Given the description of an element on the screen output the (x, y) to click on. 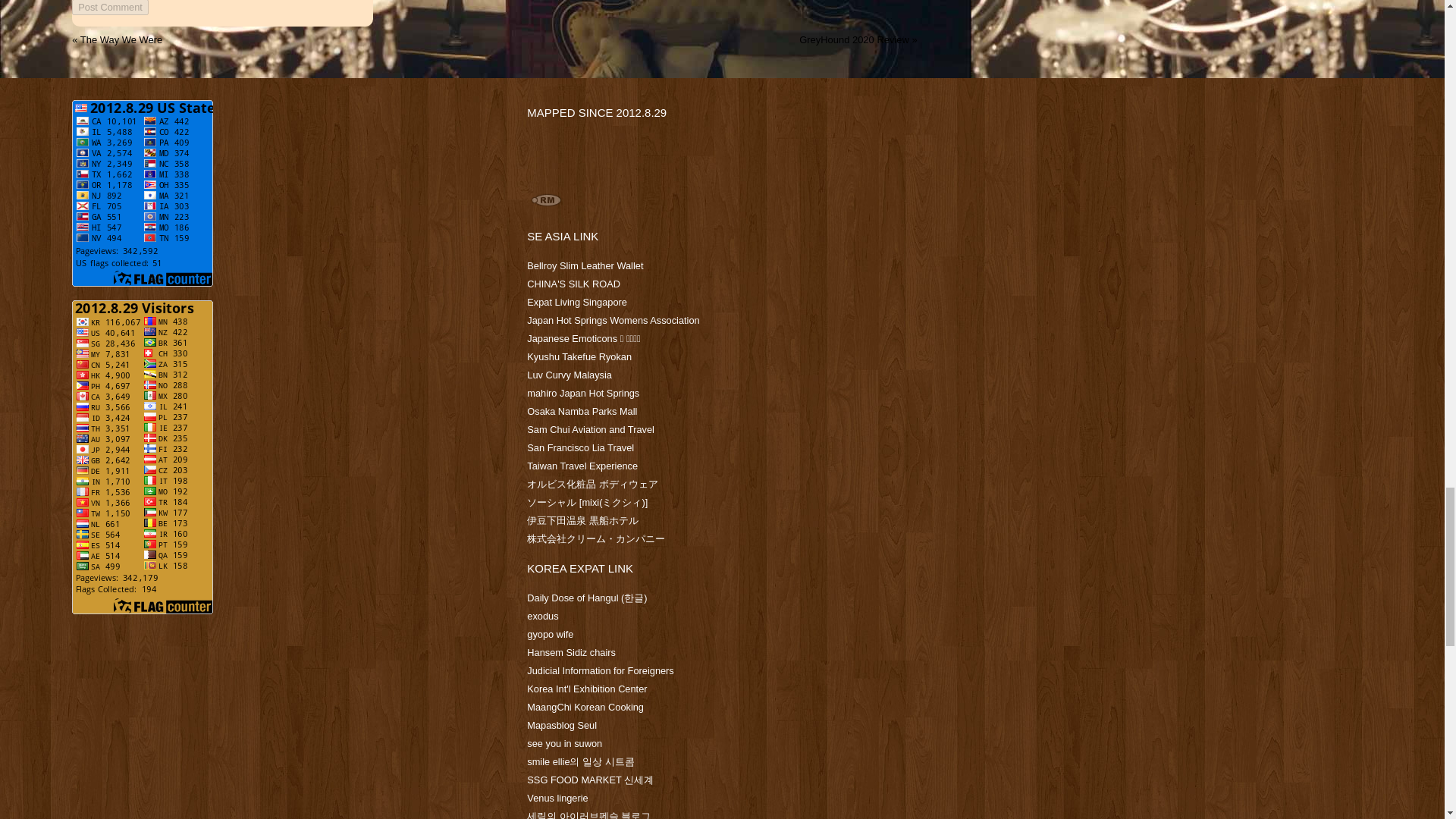
Post Comment (109, 7)
Sam Chui Aviation and Travel (590, 429)
